Given the description of an element on the screen output the (x, y) to click on. 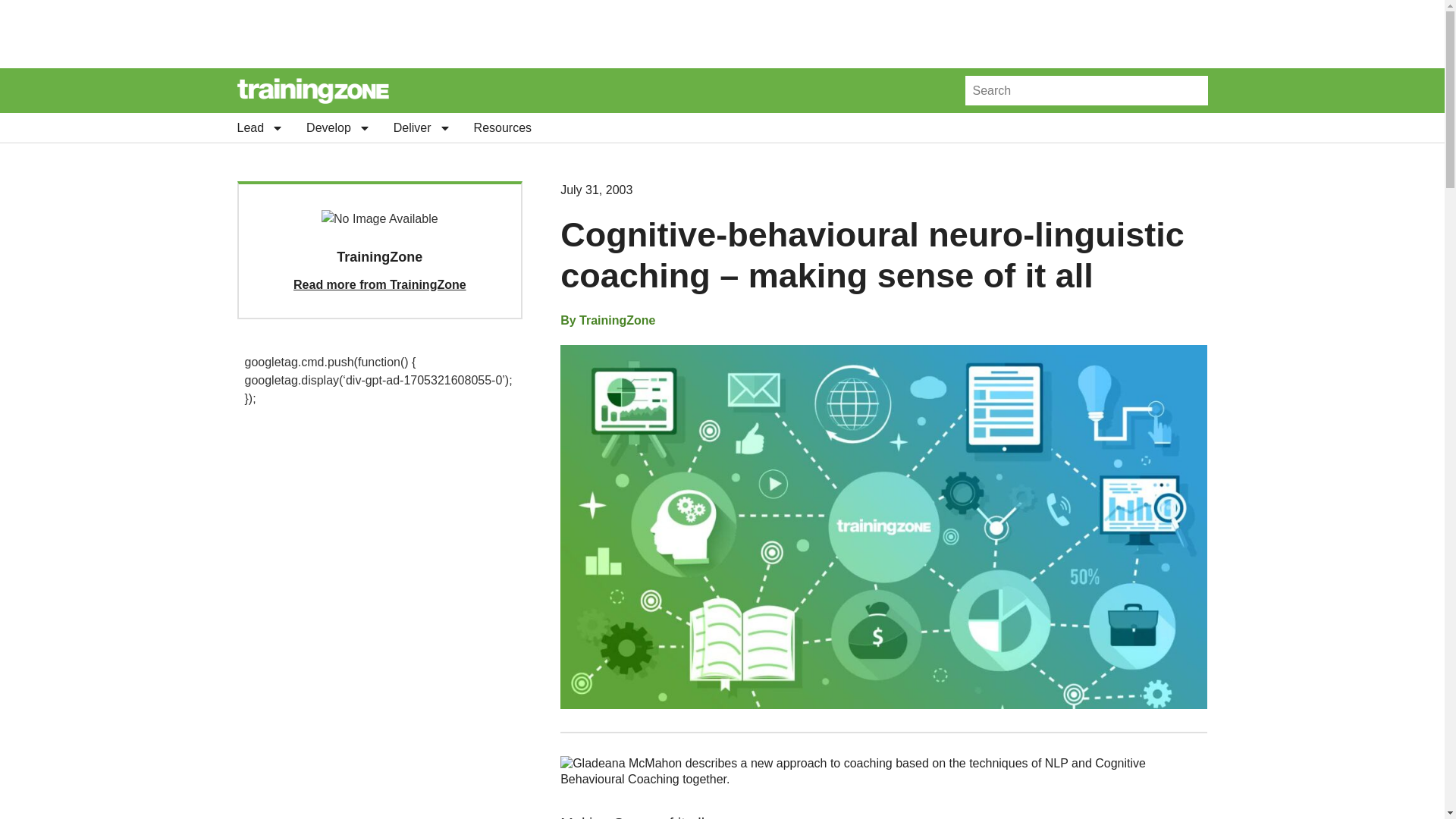
Read more from TrainingZone (379, 284)
Deliver (422, 127)
By TrainingZone (607, 321)
Gladeana McMahon (626, 762)
Develop (338, 127)
Resources (502, 127)
Lead (259, 127)
